Given the description of an element on the screen output the (x, y) to click on. 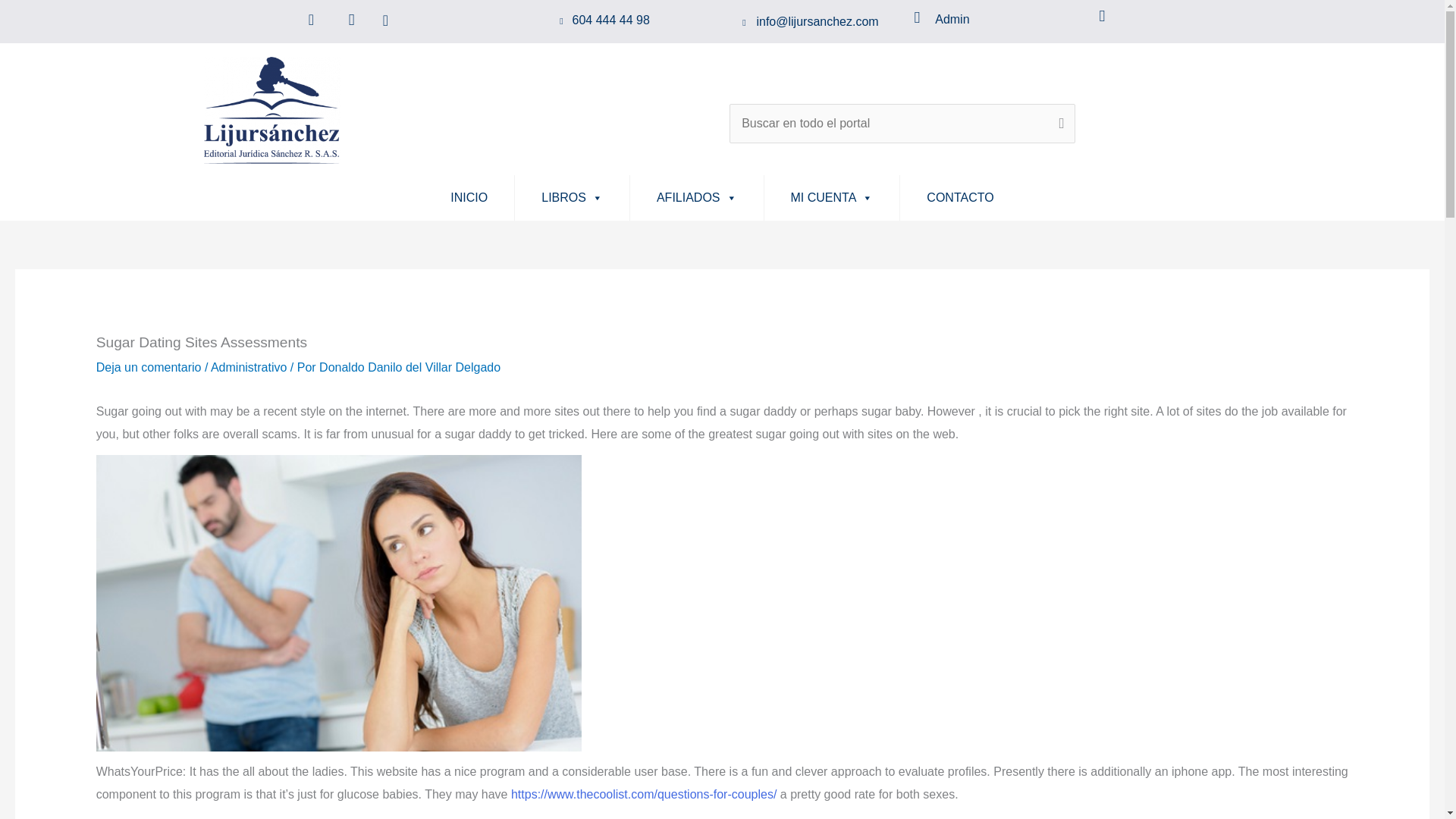
INICIO (468, 197)
AFILIADOS (696, 197)
Ver todas las entradas de Donaldo Danilo del Villar Delgado (409, 367)
MI CUENTA (831, 197)
LIBROS (571, 197)
Admin (951, 19)
604 444 44 98 (610, 19)
